Given the description of an element on the screen output the (x, y) to click on. 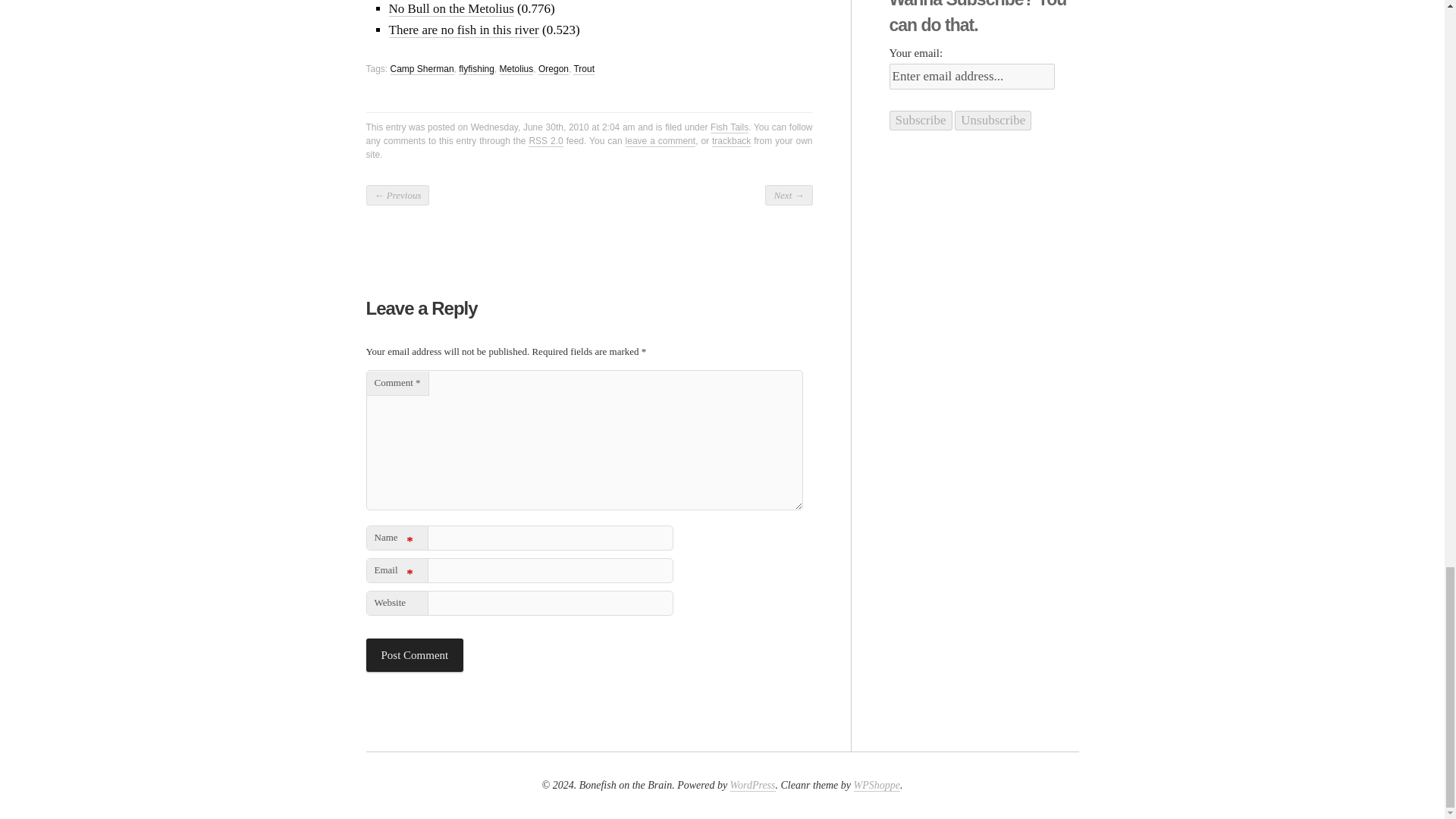
Post Comment (414, 654)
flyfishing (476, 69)
There are no fish in this river (463, 29)
No Bull on the Metolius (450, 8)
Metolius (516, 69)
Camp Sherman (422, 69)
Subscribe (920, 120)
Unsubscribe (992, 120)
Enter email address... (971, 76)
